Given the description of an element on the screen output the (x, y) to click on. 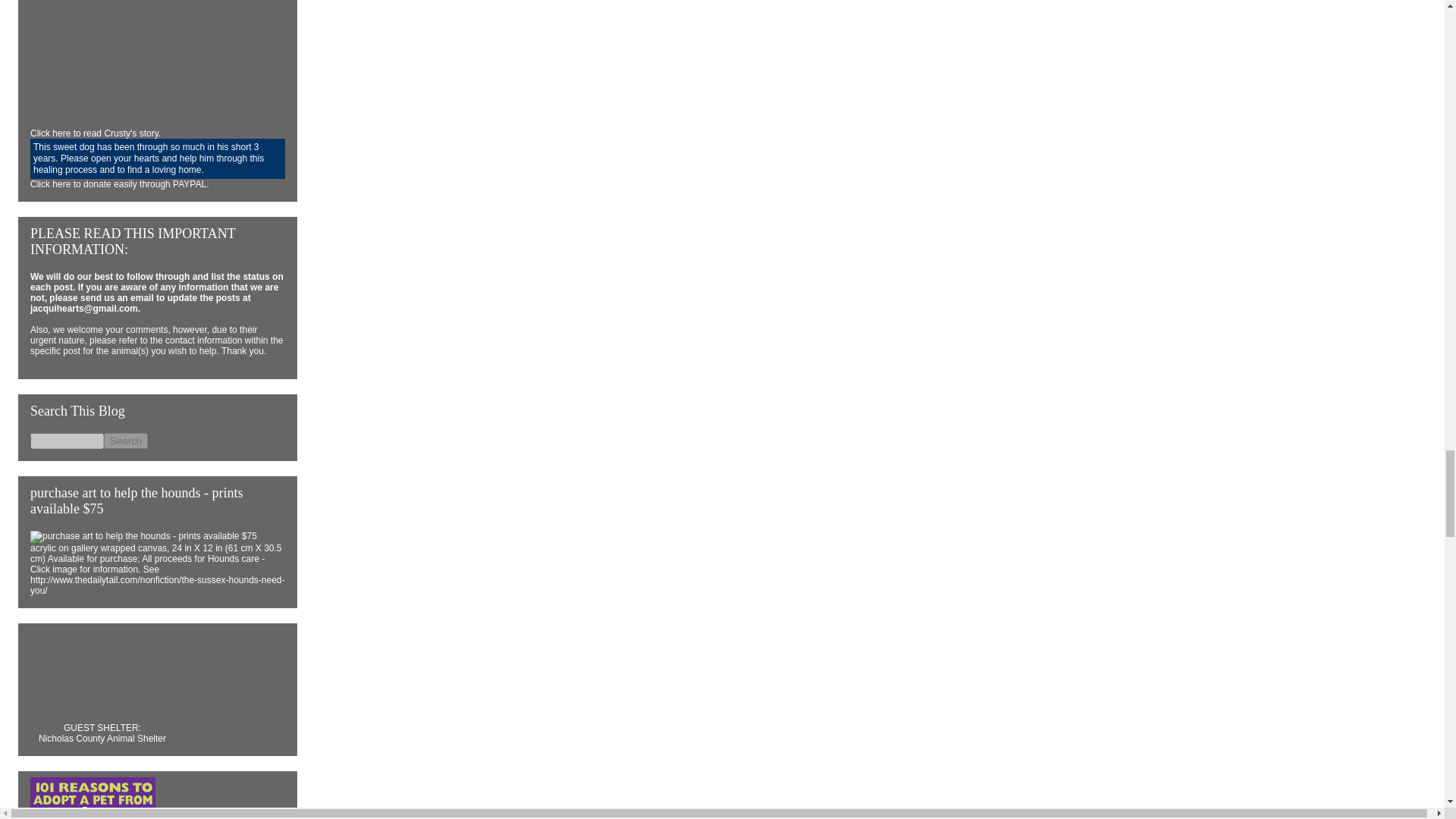
Search (125, 440)
search (66, 440)
Search (125, 440)
